Given the description of an element on the screen output the (x, y) to click on. 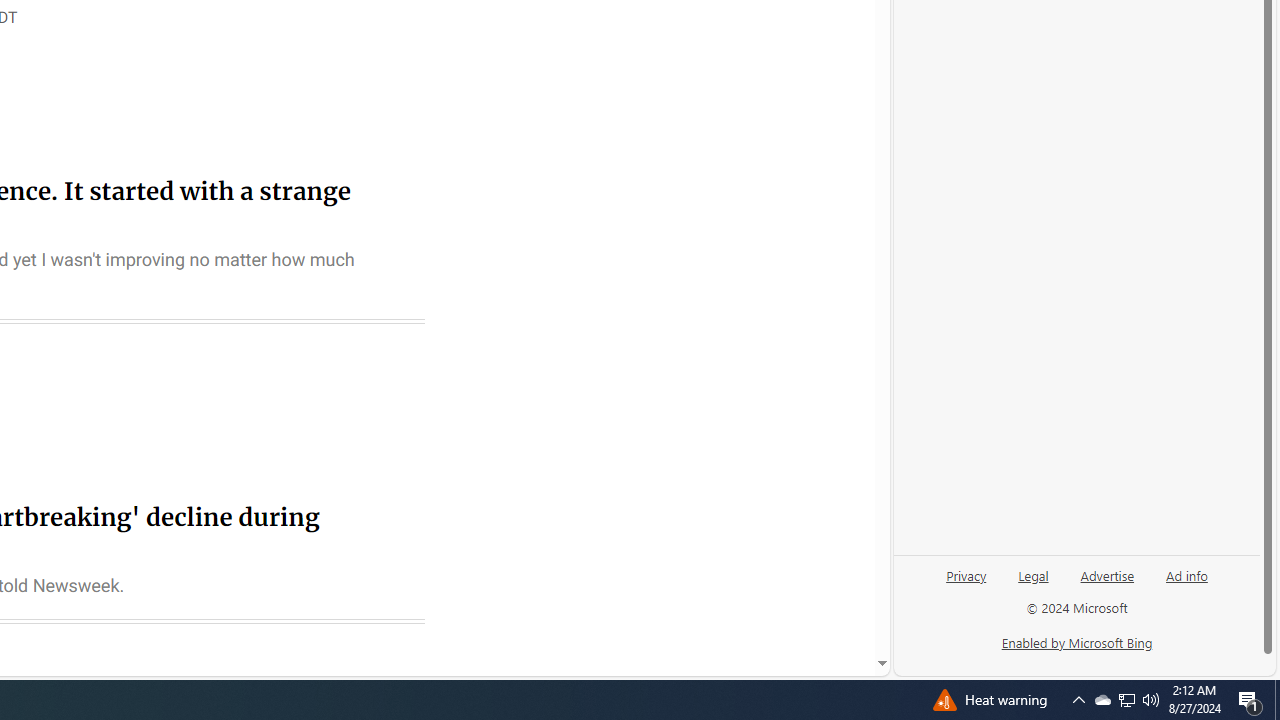
Ad info (1187, 574)
Legal (1033, 574)
Privacy (965, 574)
Advertise (1107, 574)
Advertise (1106, 583)
Privacy (966, 583)
Ad info (1186, 583)
Legal (1033, 583)
